Given the description of an element on the screen output the (x, y) to click on. 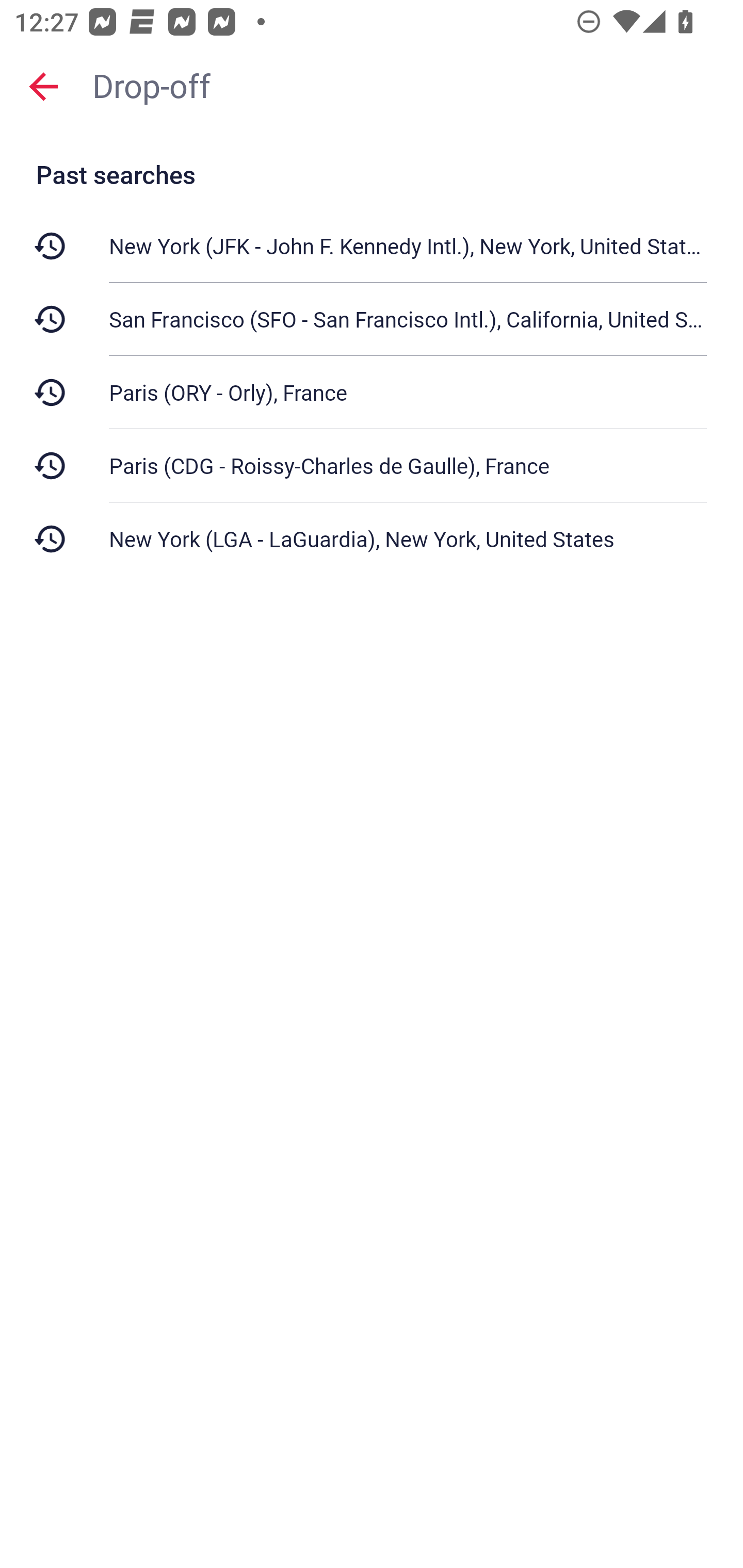
Drop-off,  (407, 85)
Close search screen (43, 86)
